Given the description of an element on the screen output the (x, y) to click on. 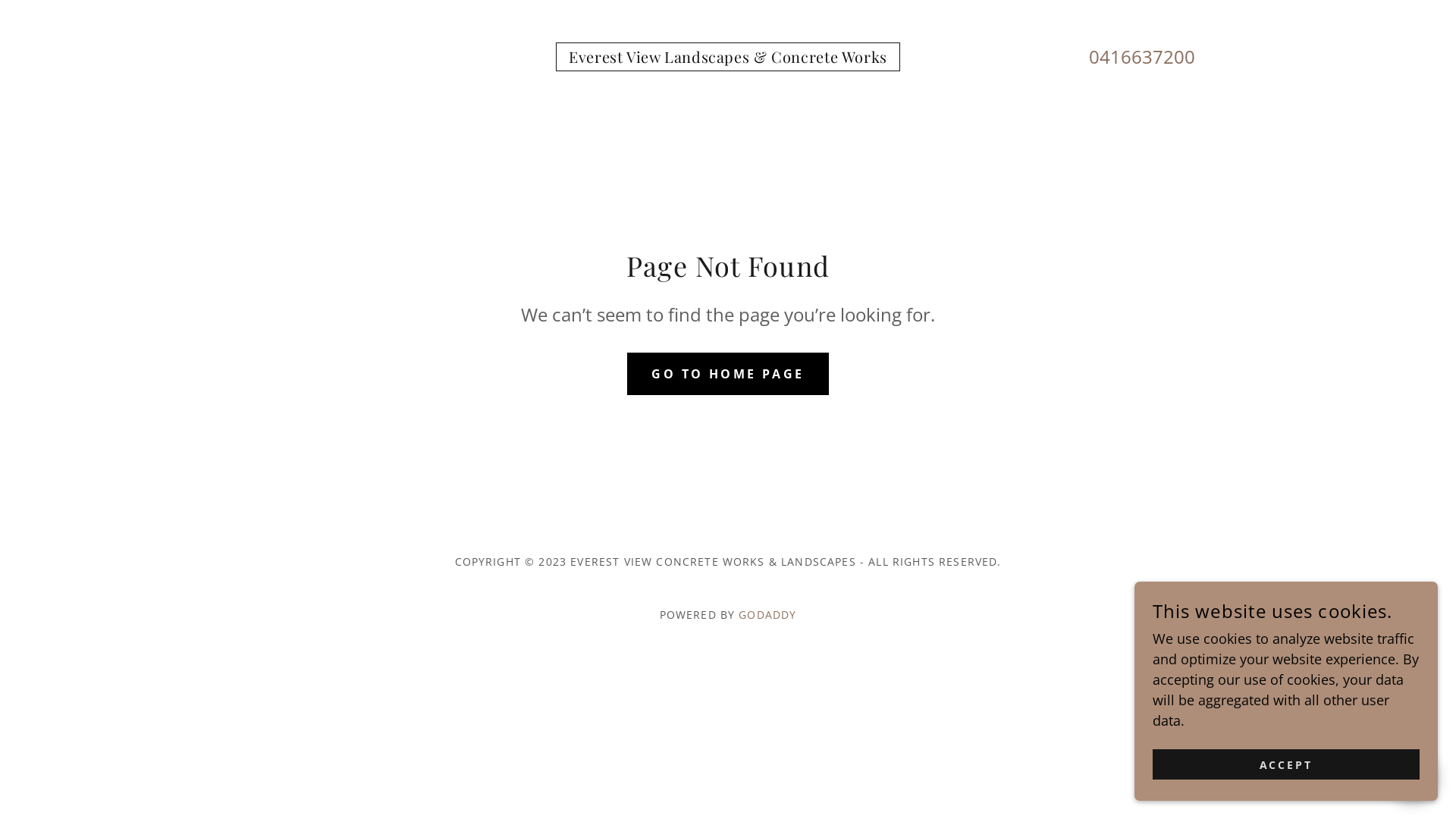
0416637200 Element type: text (1141, 56)
GODADDY Element type: text (767, 614)
Everest View Landscapes & Concrete Works Element type: text (727, 57)
ACCEPT Element type: text (1285, 764)
GO TO HOME PAGE Element type: text (727, 372)
